Given the description of an element on the screen output the (x, y) to click on. 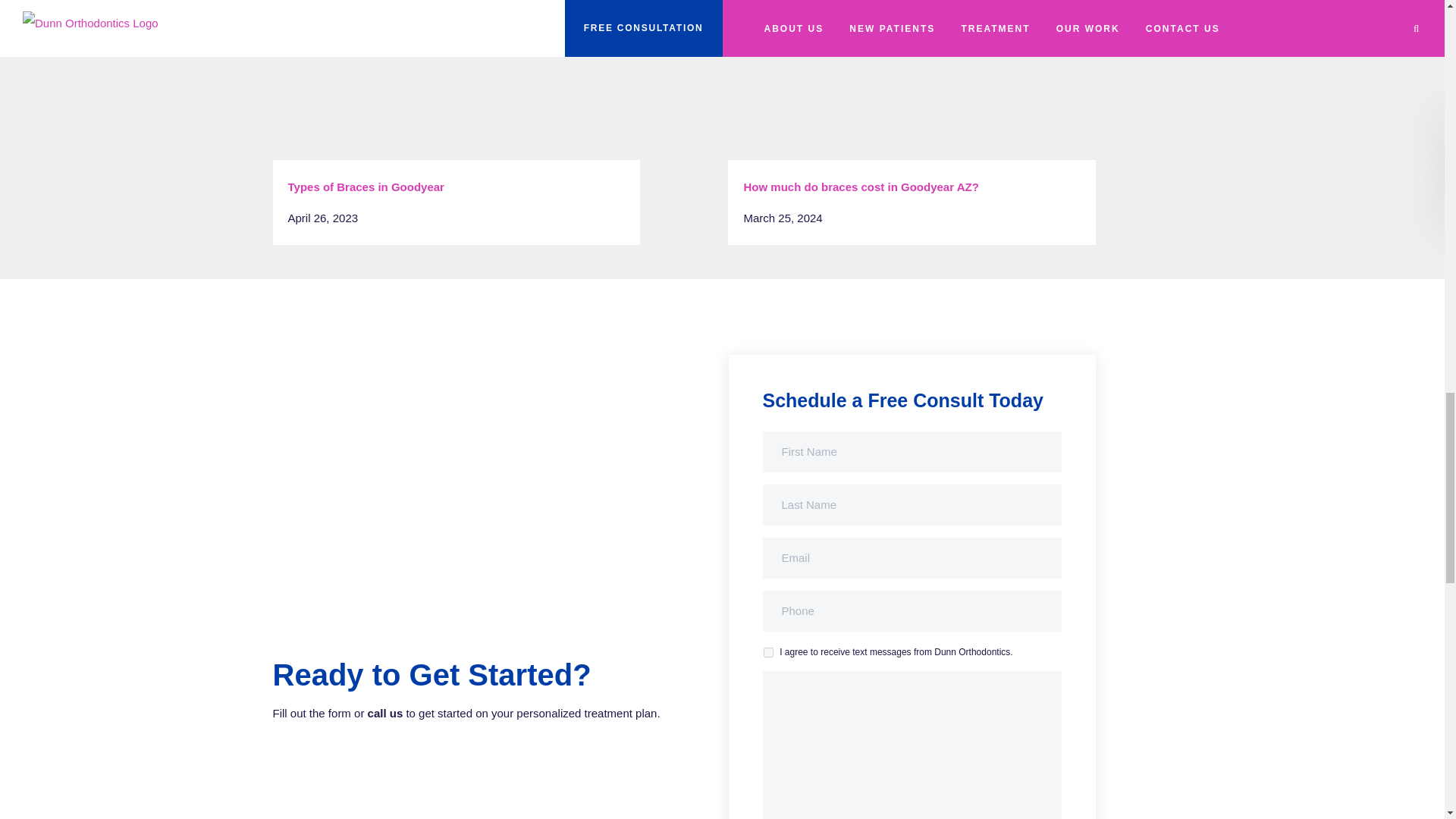
I agree to receive text messages from Dunn Orthodontics. (767, 652)
